Given the description of an element on the screen output the (x, y) to click on. 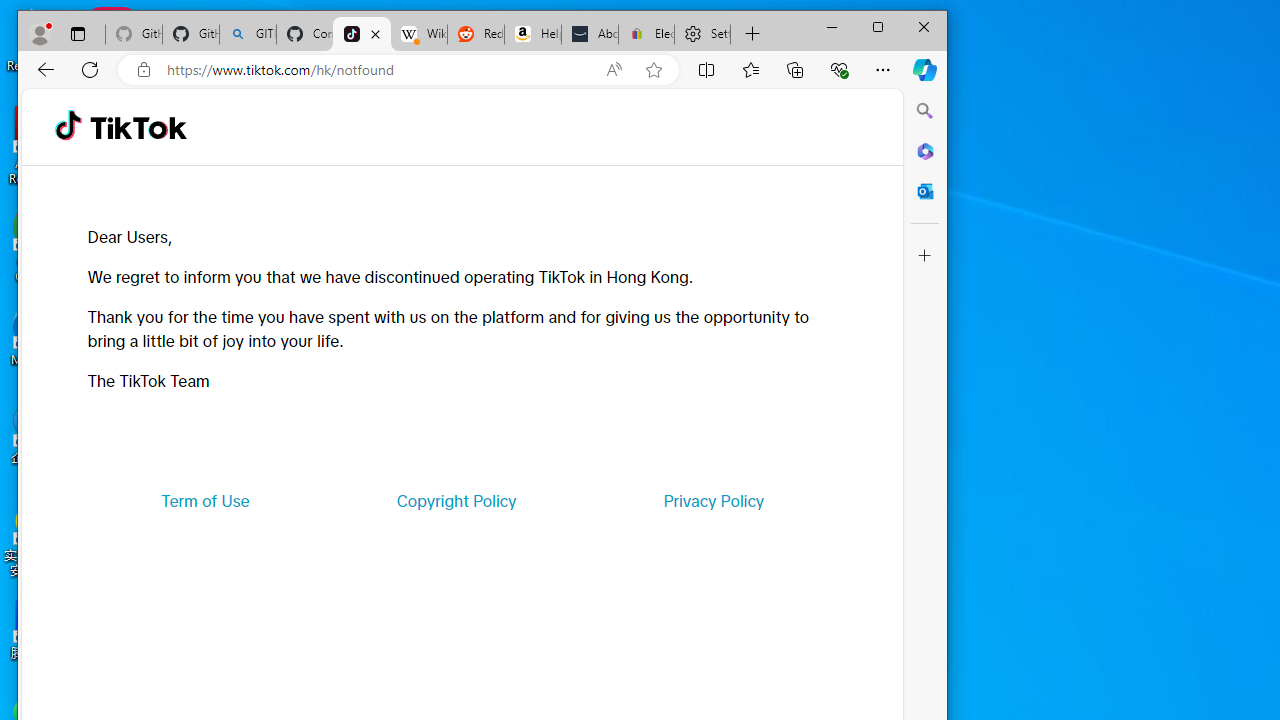
Term of Use (205, 500)
TikTok (138, 126)
GITHUB - Search (248, 34)
